Given the description of an element on the screen output the (x, y) to click on. 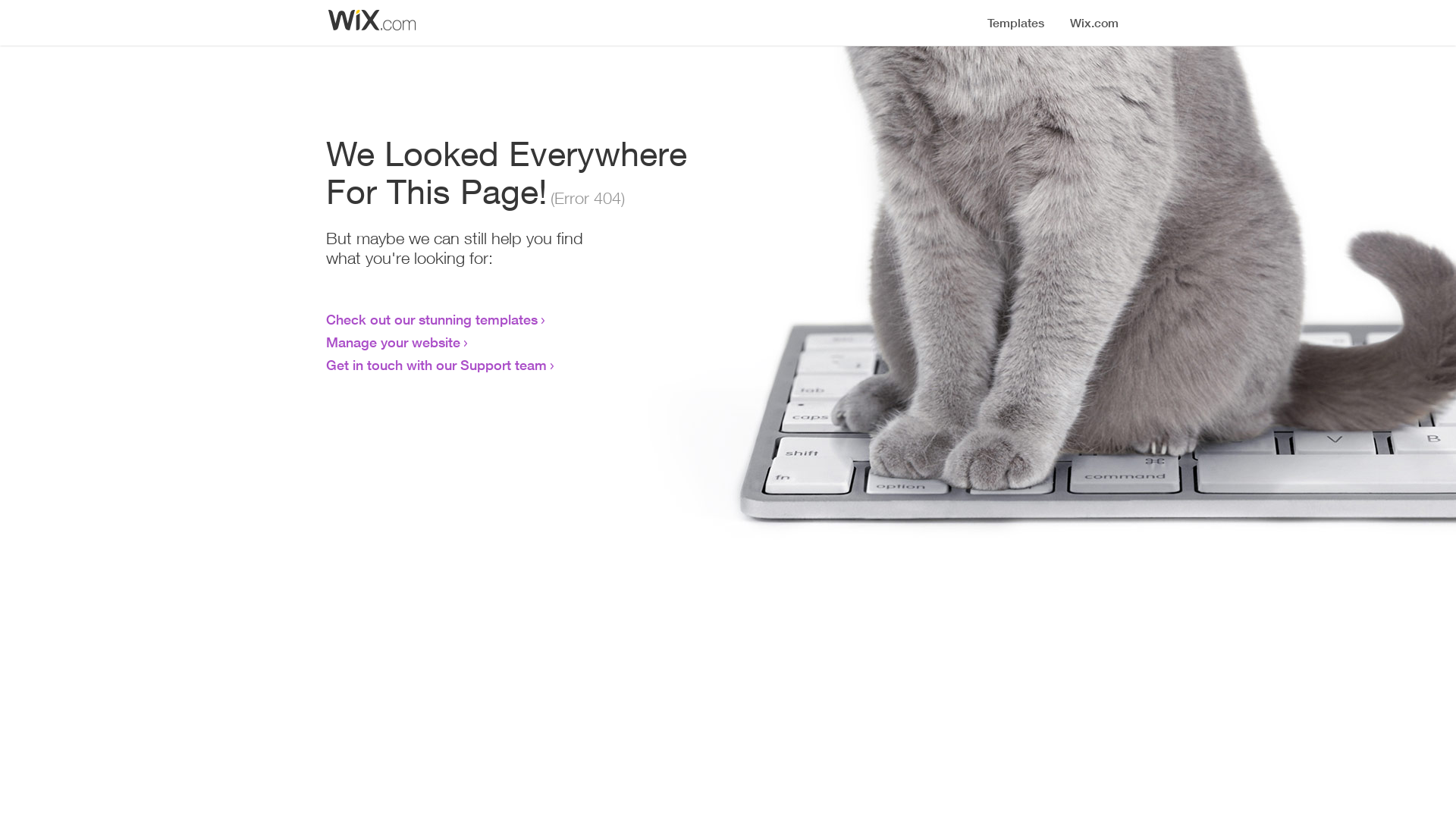
Get in touch with our Support team Element type: text (436, 364)
Check out our stunning templates Element type: text (431, 318)
Manage your website Element type: text (393, 341)
